Given the description of an element on the screen output the (x, y) to click on. 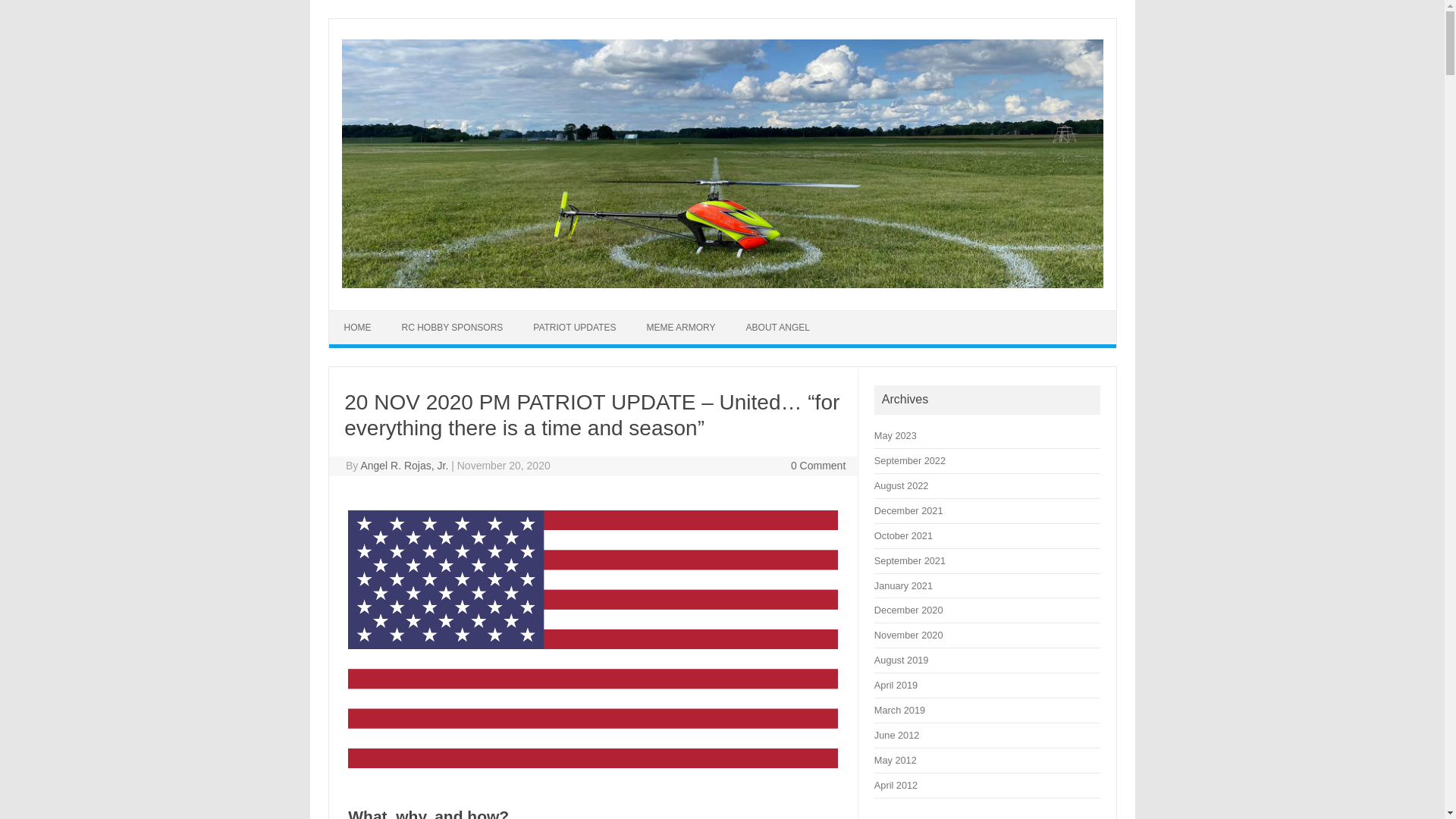
Angel's Personal Blog (721, 284)
RC HOBBY SPONSORS (452, 327)
MEME ARMORY (680, 327)
0 Comment (817, 465)
Angel R. Rojas, Jr. (403, 465)
PATRIOT UPDATES (574, 327)
HOME (358, 327)
ABOUT ANGEL (777, 327)
Posts by Angel R. Rojas, Jr. (403, 465)
